Given the description of an element on the screen output the (x, y) to click on. 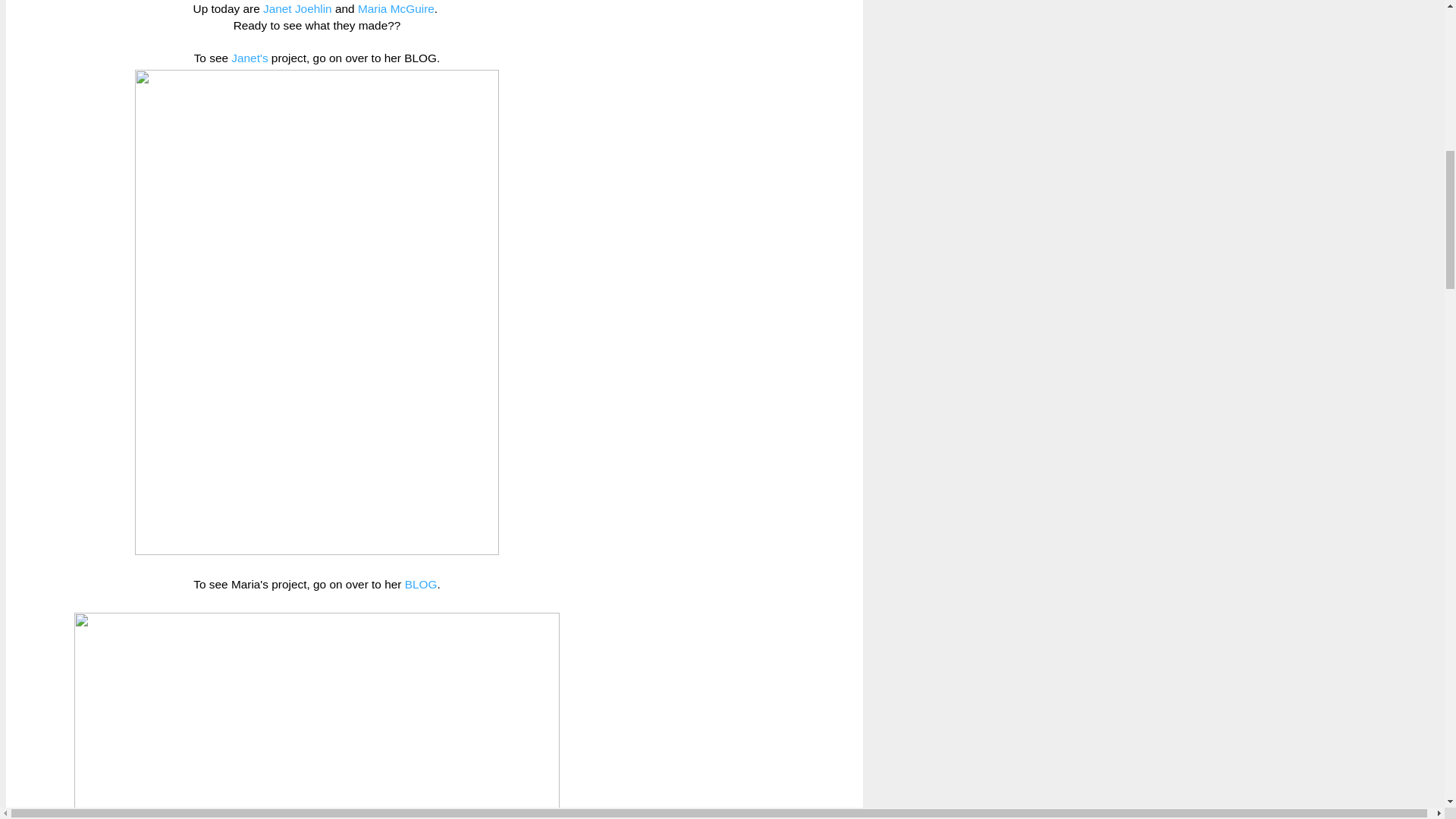
BLOG (421, 584)
Maria McGuire (395, 8)
Janet's (249, 57)
Janet Joehlin (297, 8)
